Given the description of an element on the screen output the (x, y) to click on. 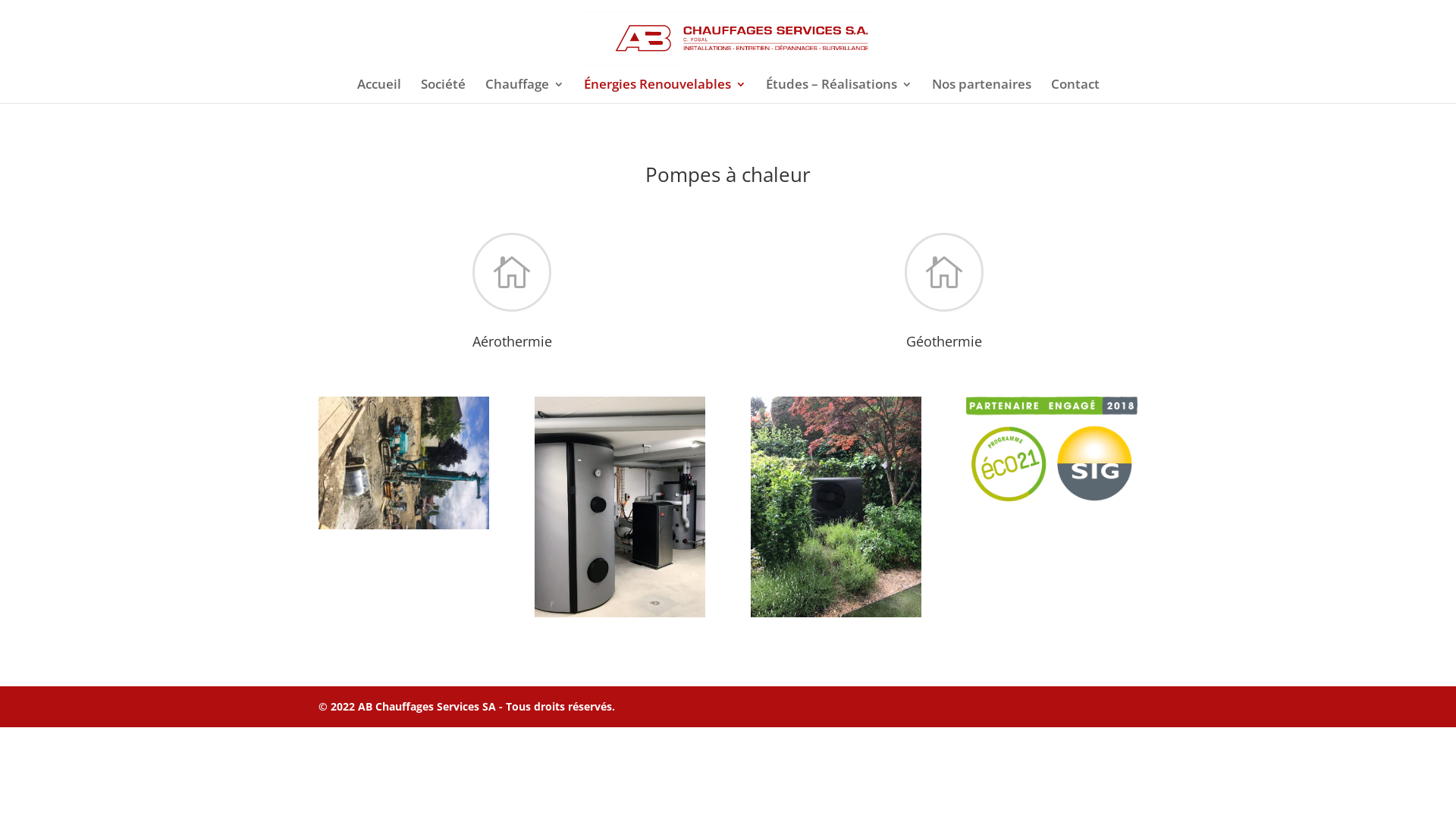
Port 21 Element type: hover (835, 612)
Chauffage Element type: text (524, 90)
IMG_0264 Element type: hover (403, 524)
Contact Element type: text (1075, 90)
Accueil Element type: text (378, 90)
partenaire_eco21_2018_Q Element type: hover (1051, 496)
IMG_5094 (2) Element type: hover (619, 612)
Nos partenaires Element type: text (980, 90)
